Given the description of an element on the screen output the (x, y) to click on. 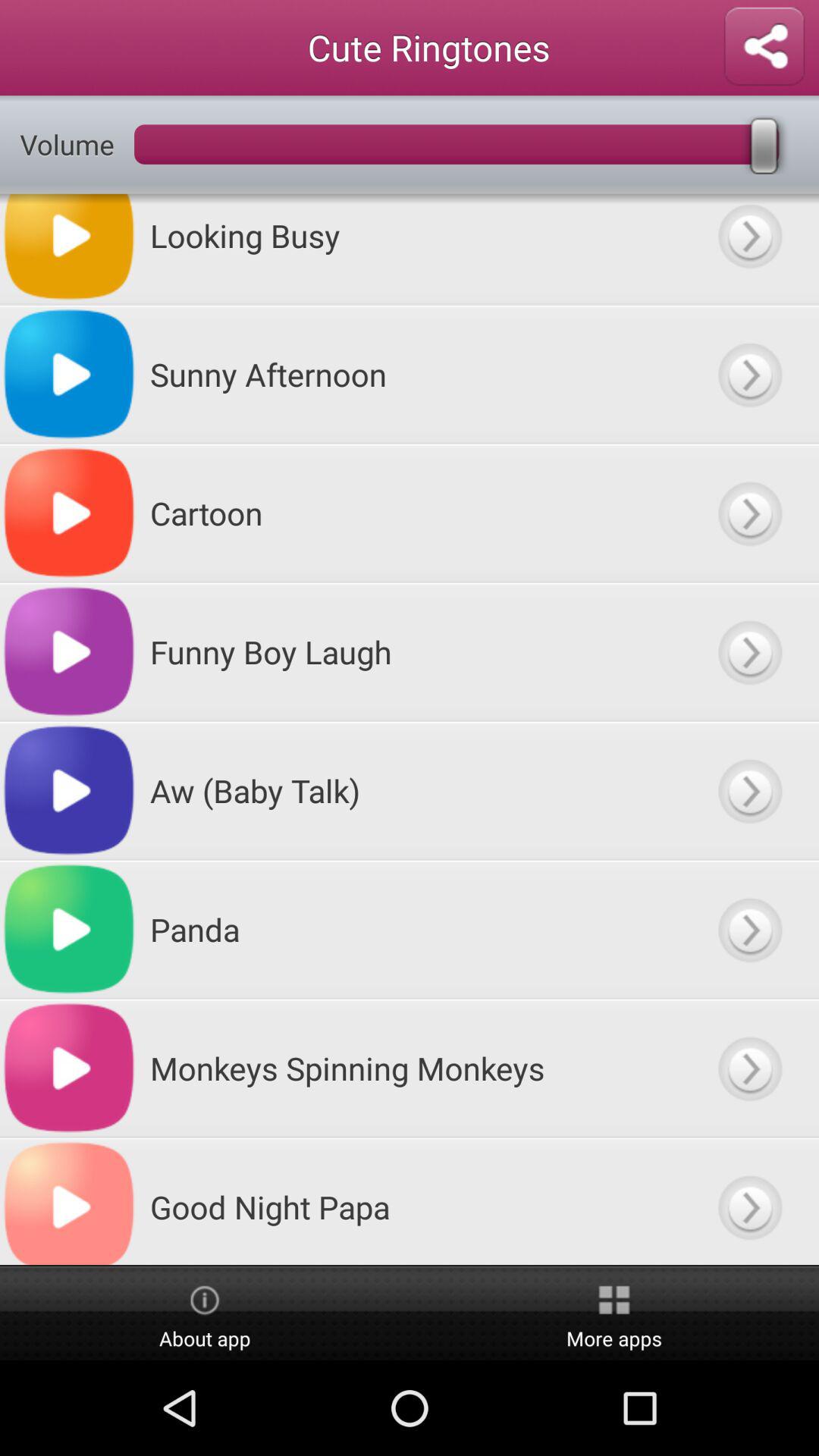
go to next (749, 374)
